Given the description of an element on the screen output the (x, y) to click on. 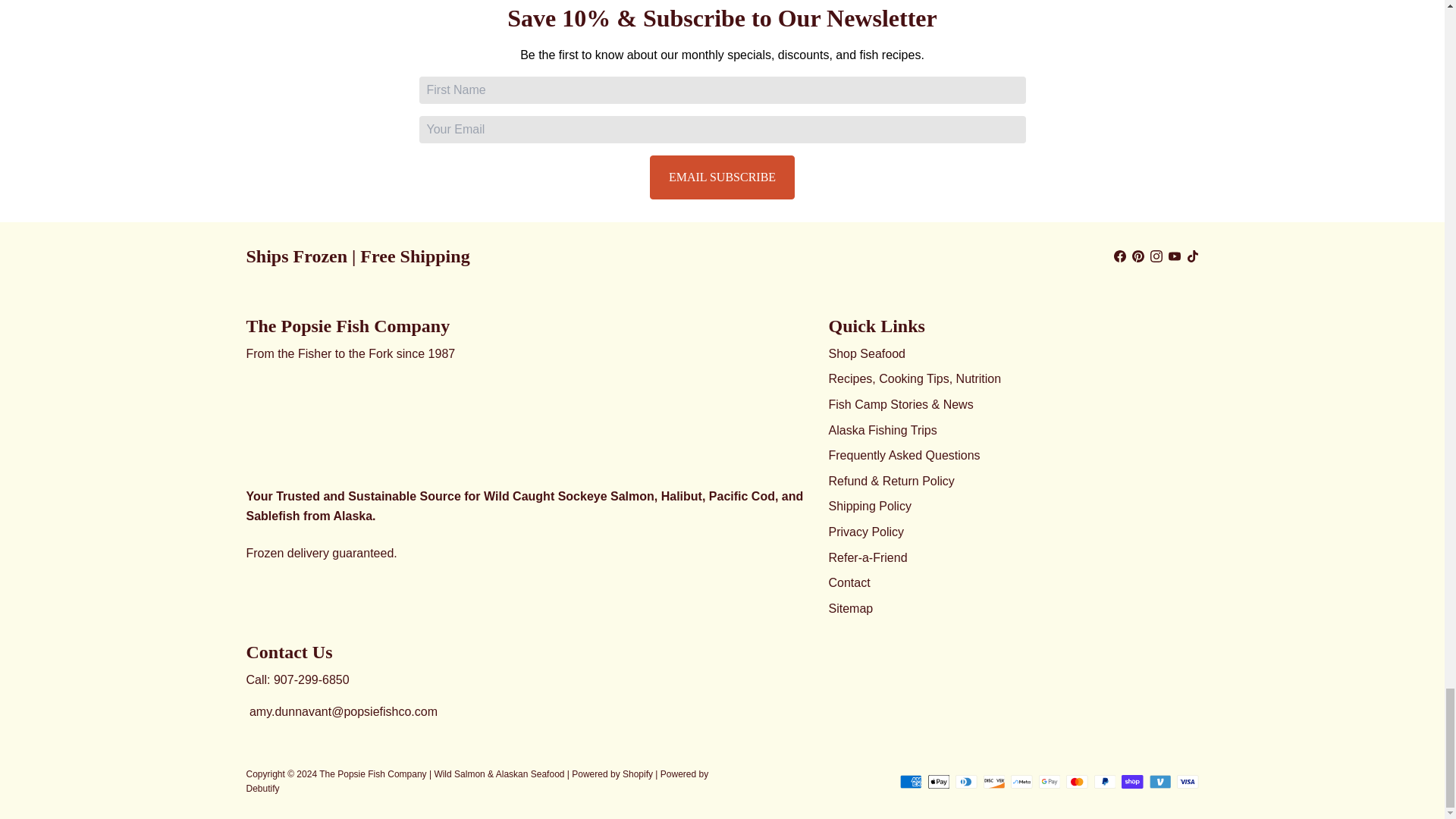
Diners Club (965, 781)
Discover (993, 781)
Apple Pay (938, 781)
American Express (910, 781)
Meta Pay (1021, 781)
